Given the description of an element on the screen output the (x, y) to click on. 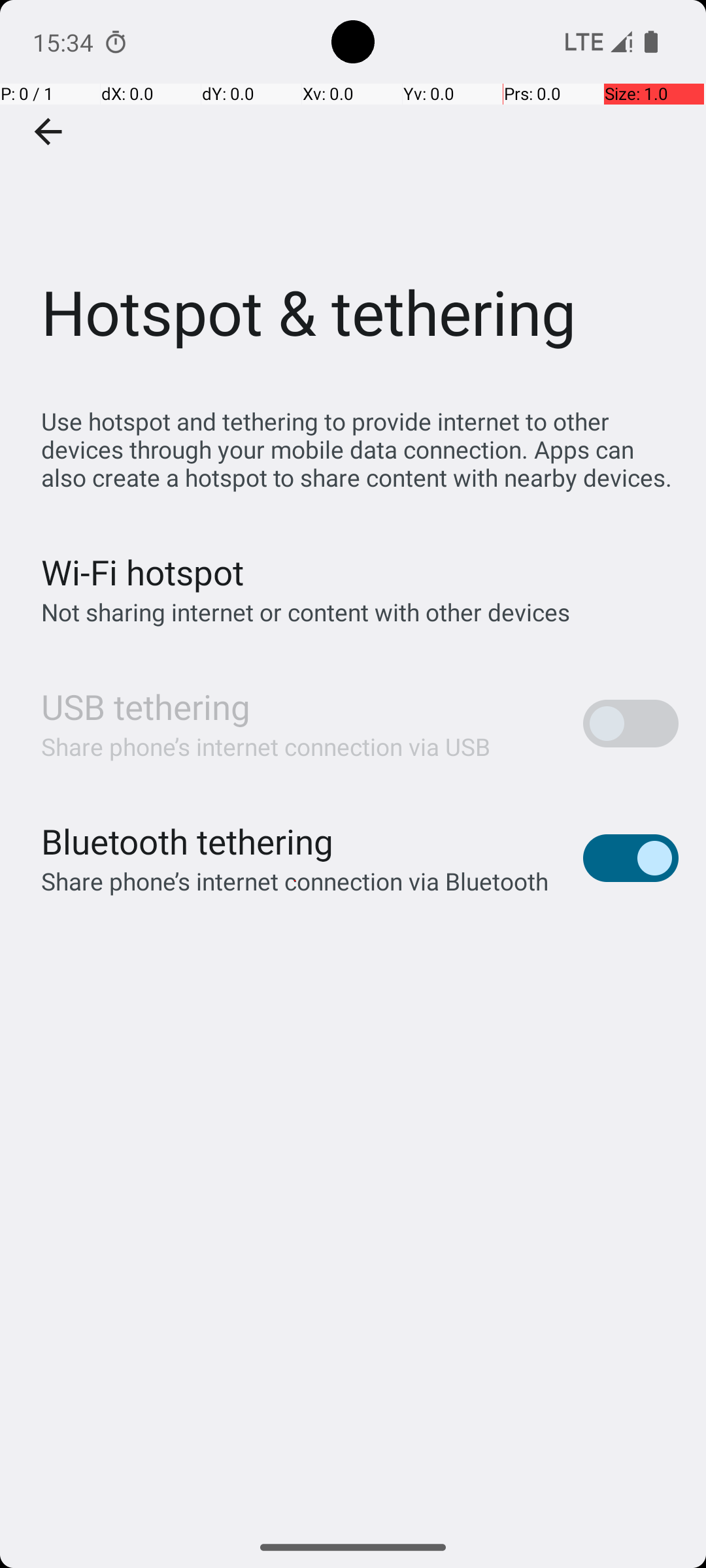
Use hotspot and tethering to provide internet to other devices through your mobile data connection. Apps can also create a hotspot to share content with nearby devices. Element type: android.widget.TextView (359, 448)
Wi‑Fi hotspot Element type: android.widget.TextView (142, 571)
Not sharing internet or content with other devices Element type: android.widget.TextView (305, 611)
USB tethering Element type: android.widget.TextView (145, 706)
Share phone’s internet connection via USB Element type: android.widget.TextView (265, 746)
Bluetooth tethering Element type: android.widget.TextView (187, 840)
Share phone’s internet connection via Bluetooth Element type: android.widget.TextView (294, 880)
